Given the description of an element on the screen output the (x, y) to click on. 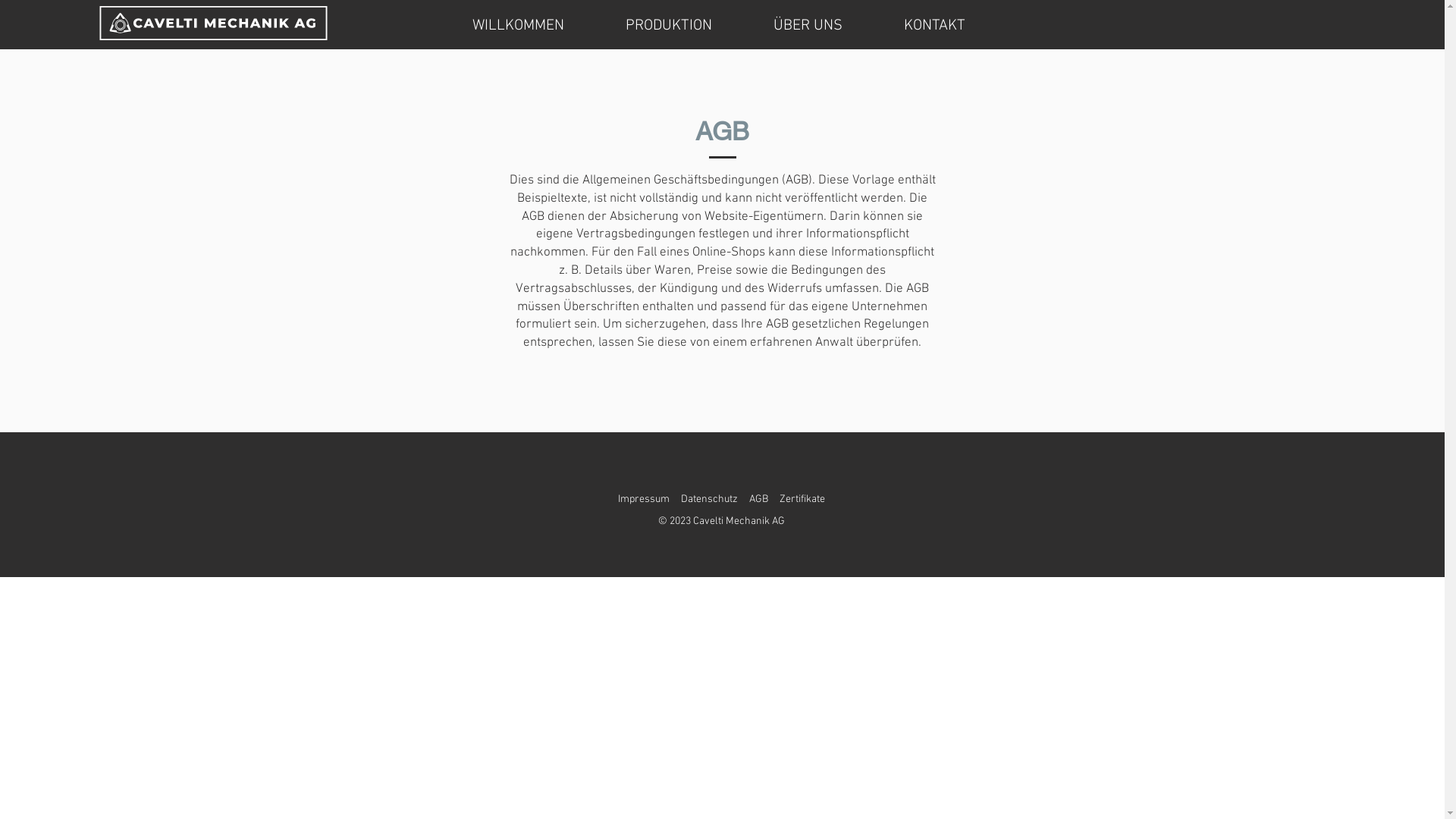
Datenschutz Element type: text (708, 498)
WILLKOMMEN Element type: text (517, 23)
AGB Element type: text (758, 498)
Impressum Element type: text (643, 498)
Zertifikate Element type: text (802, 498)
KONTAKT Element type: text (934, 23)
PRODUKTION Element type: text (668, 23)
